Given the description of an element on the screen output the (x, y) to click on. 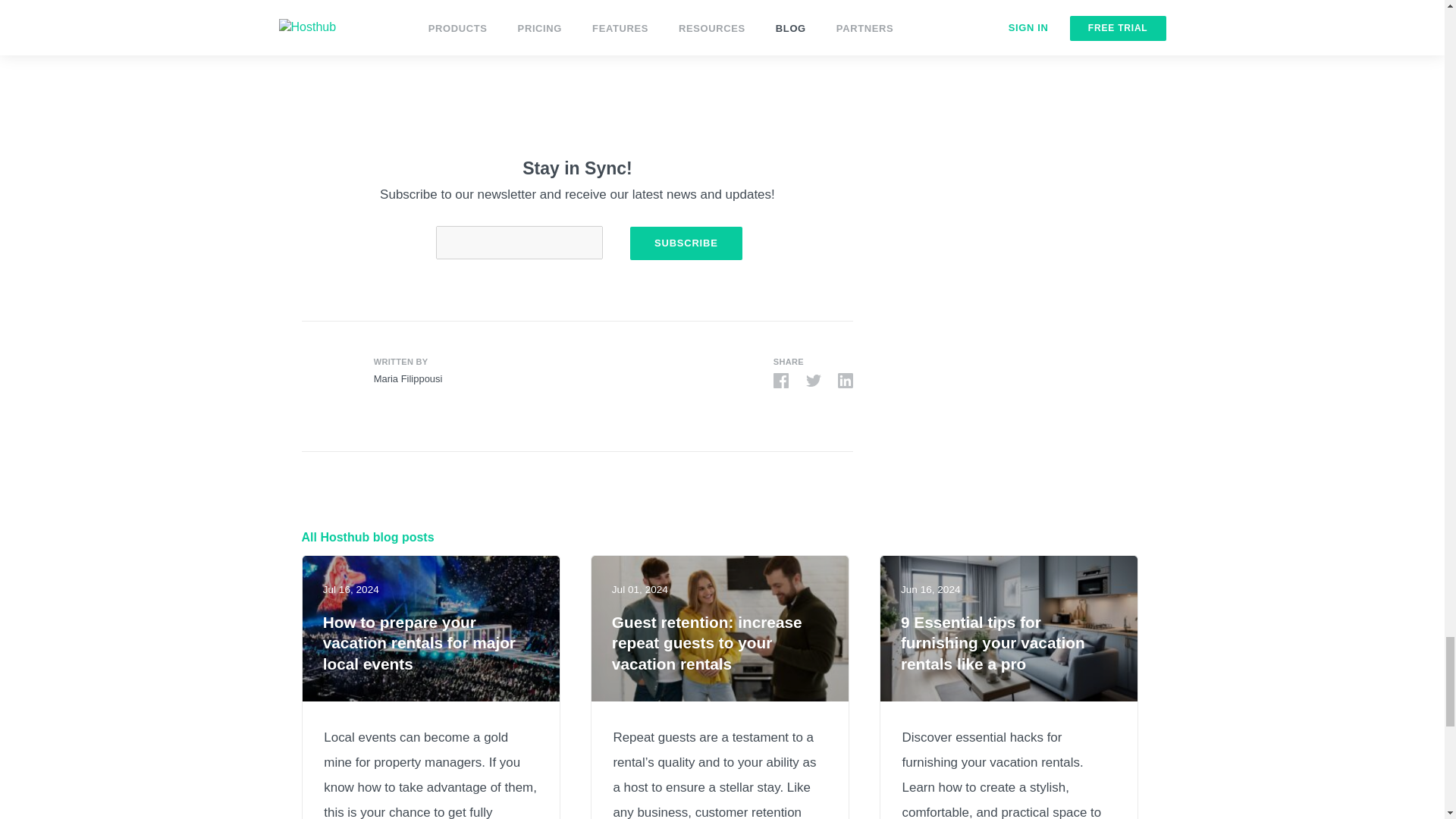
Facebook (781, 380)
Subscribe (686, 243)
Twitter (813, 380)
Linkedin (845, 380)
